Given the description of an element on the screen output the (x, y) to click on. 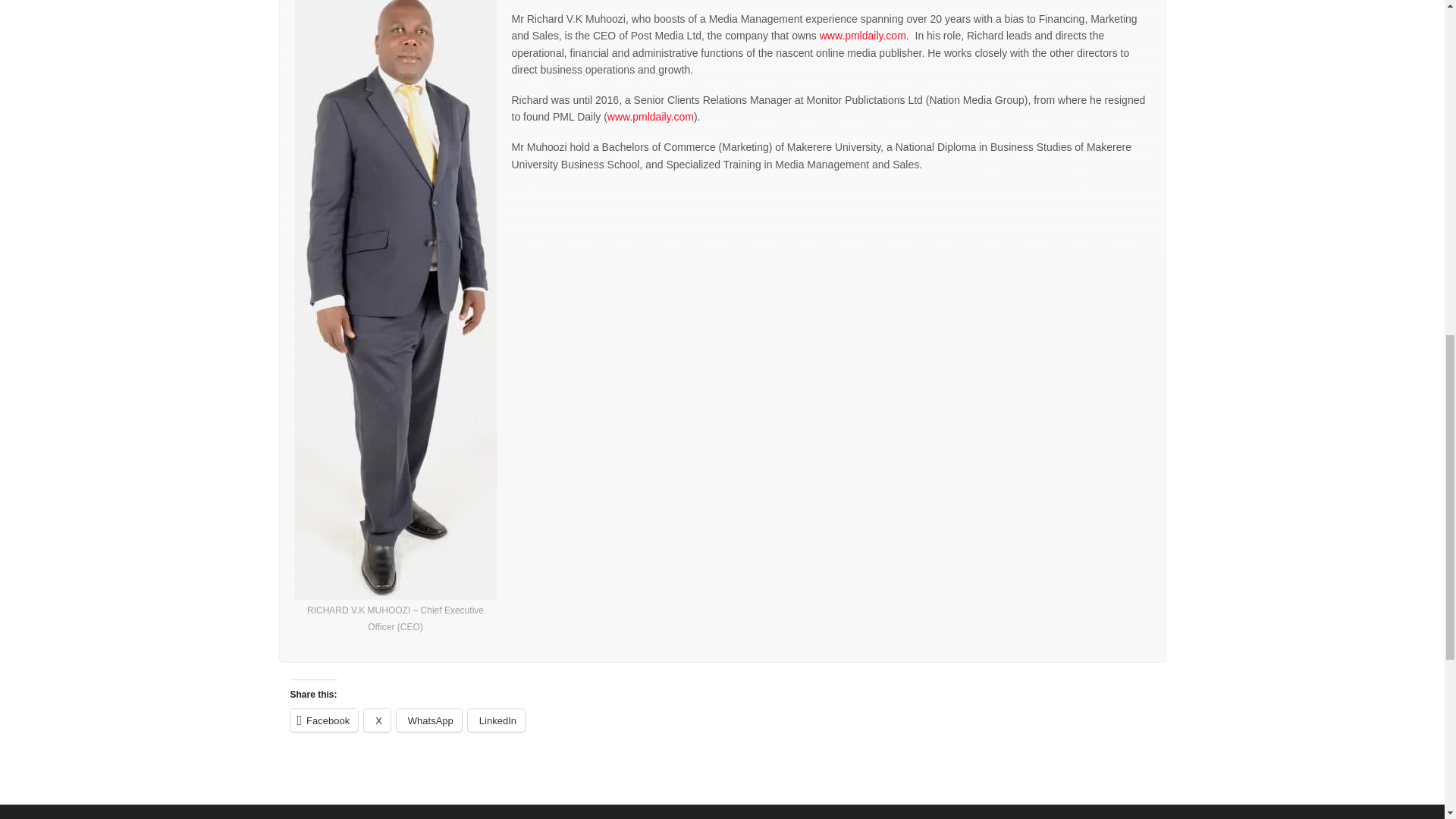
Click to share on X (377, 720)
Click to share on WhatsApp (428, 720)
Click to share on LinkedIn (495, 720)
Click to share on Facebook (323, 720)
